Given the description of an element on the screen output the (x, y) to click on. 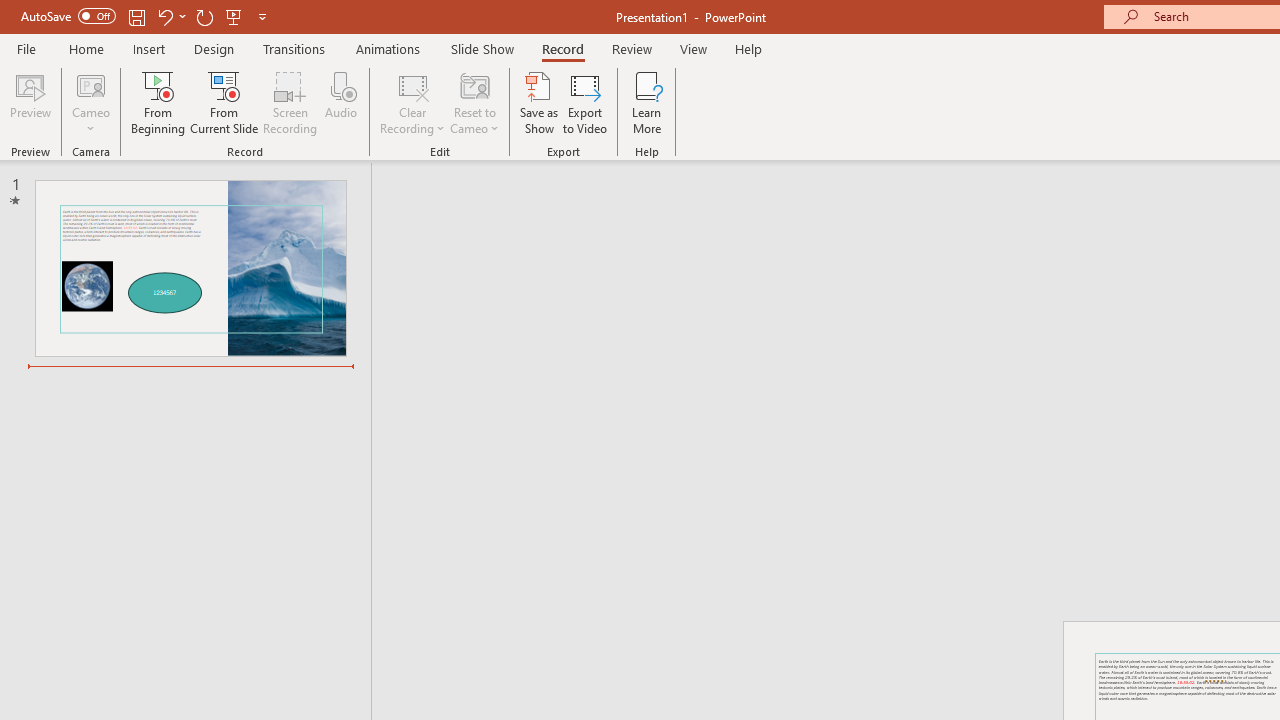
Transitions (294, 48)
Save as Show (539, 102)
System (10, 11)
From Current Slide... (224, 102)
View (693, 48)
Review (631, 48)
From Beginning... (158, 102)
Help (748, 48)
Audio (341, 102)
More Options (91, 121)
Slide Show (481, 48)
Reset to Cameo (474, 102)
Customize Quick Access Toolbar (262, 15)
Save (136, 15)
Screen Recording (290, 102)
